Given the description of an element on the screen output the (x, y) to click on. 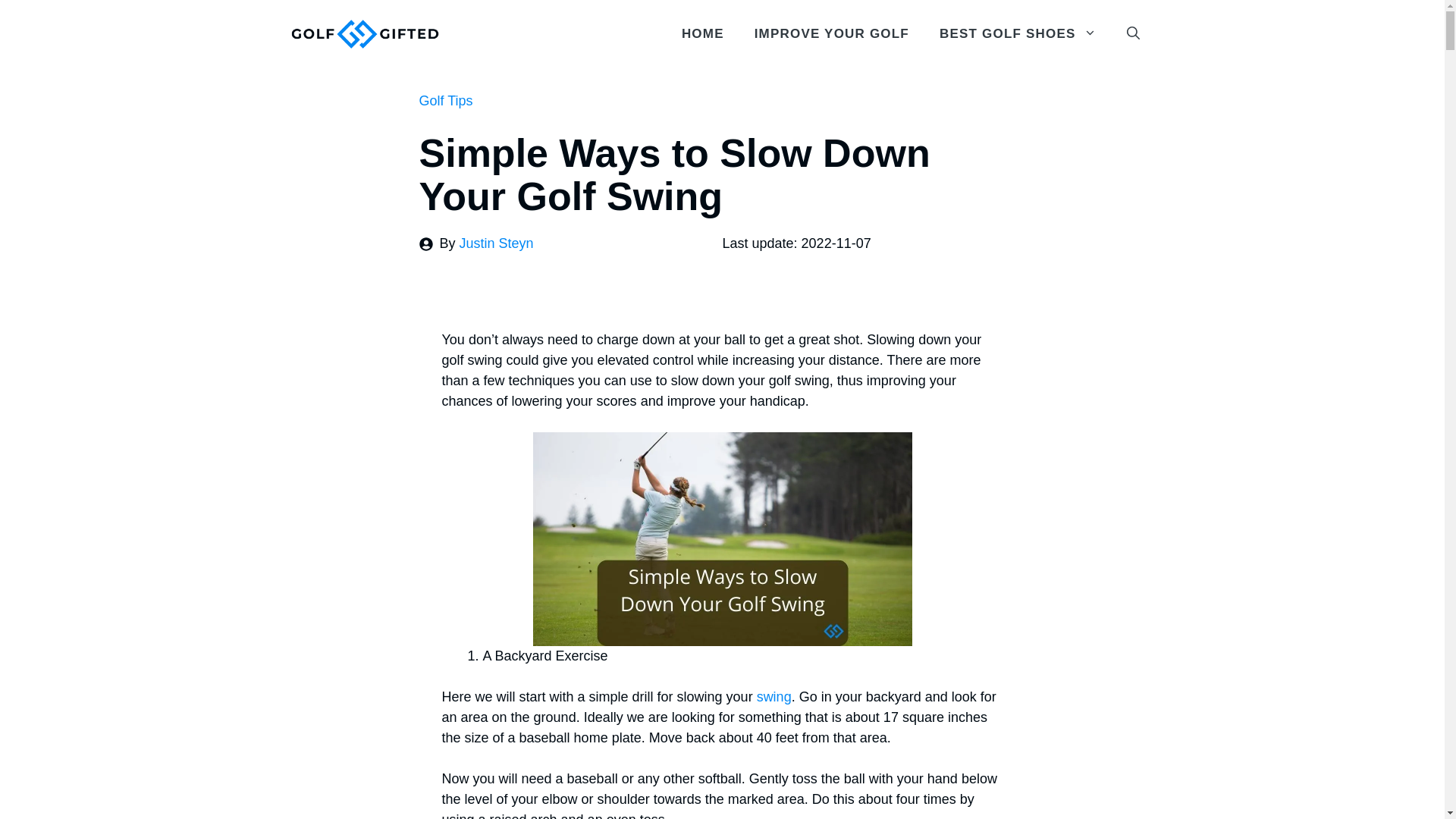
Simple Ways to Slow Down Your Golf Swing 1 (721, 539)
BEST GOLF SHOES (1018, 33)
Golf Tips (445, 100)
IMPROVE YOUR GOLF (831, 33)
HOME (702, 33)
swing (774, 696)
Justin Steyn (497, 242)
